Given the description of an element on the screen output the (x, y) to click on. 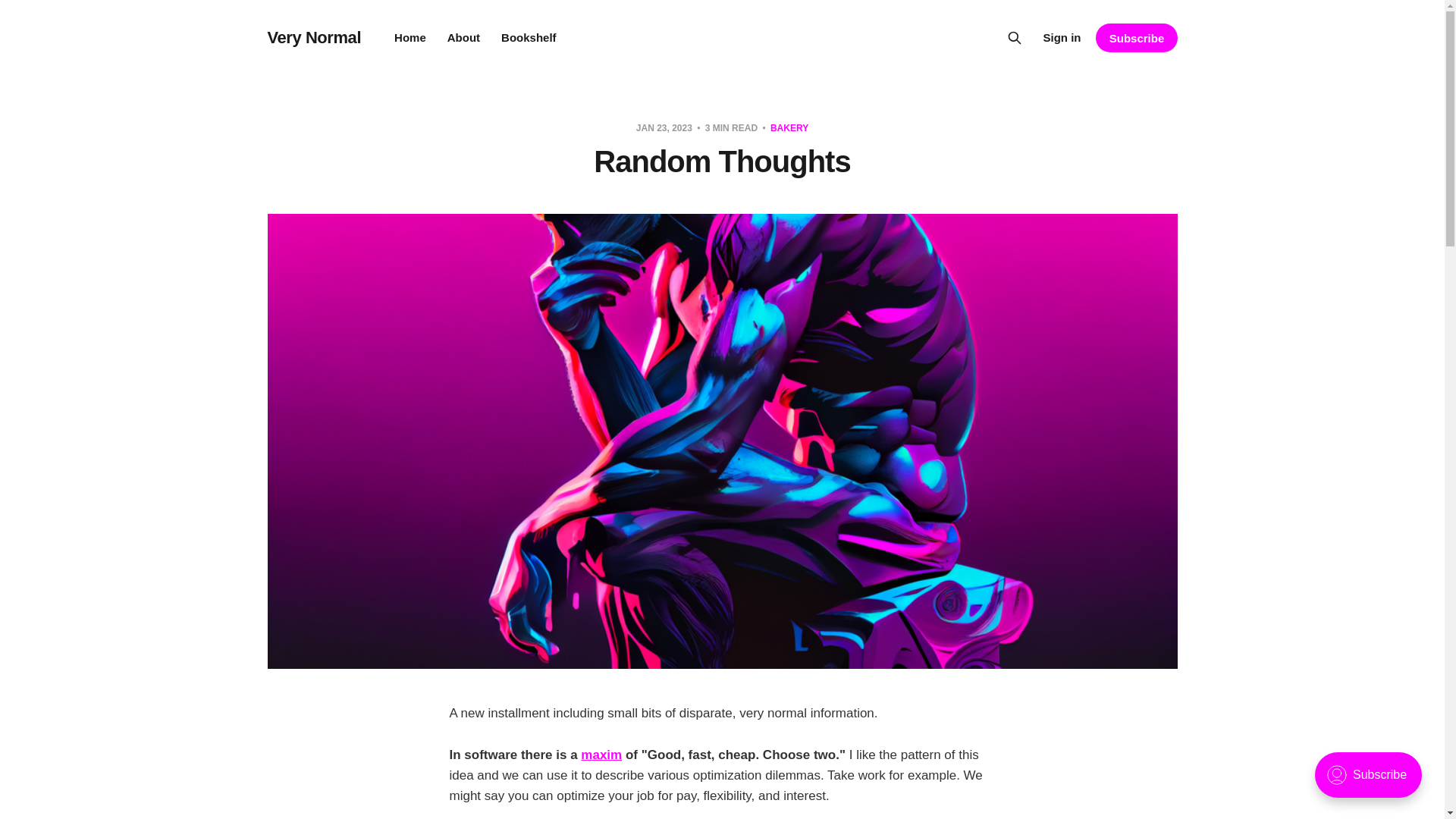
maxim (600, 754)
Bookshelf (528, 37)
Home (410, 37)
Sign in (1061, 37)
BAKERY (789, 127)
Subscribe (1136, 37)
About (463, 37)
Very Normal (313, 37)
